Given the description of an element on the screen output the (x, y) to click on. 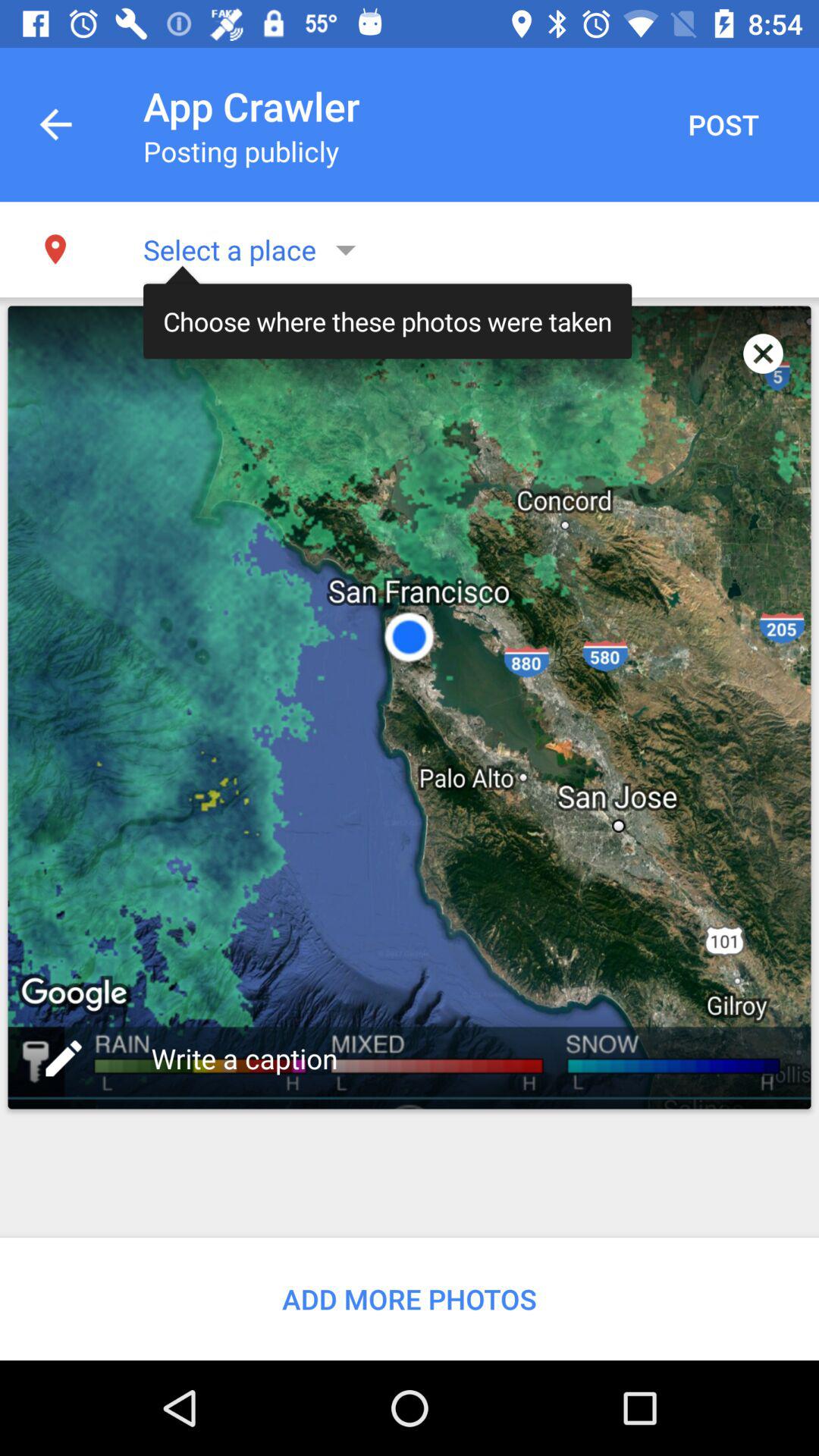
click app to the right of the choose where these item (763, 353)
